Given the description of an element on the screen output the (x, y) to click on. 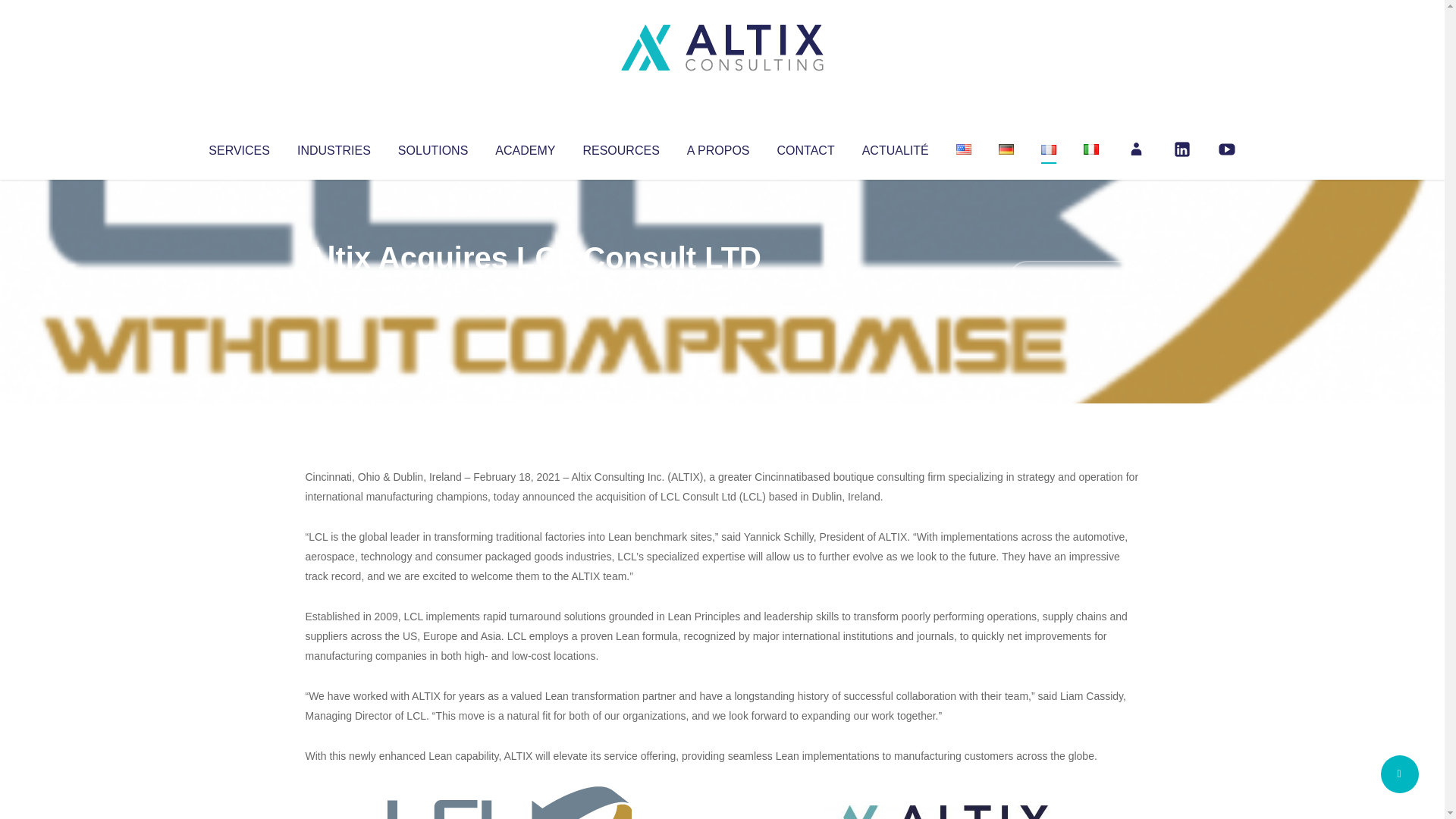
ACADEMY (524, 146)
SOLUTIONS (432, 146)
Uncategorized (530, 287)
RESOURCES (620, 146)
Articles par Altix (333, 287)
No Comments (1073, 278)
A PROPOS (718, 146)
INDUSTRIES (334, 146)
SERVICES (238, 146)
Altix (333, 287)
